Given the description of an element on the screen output the (x, y) to click on. 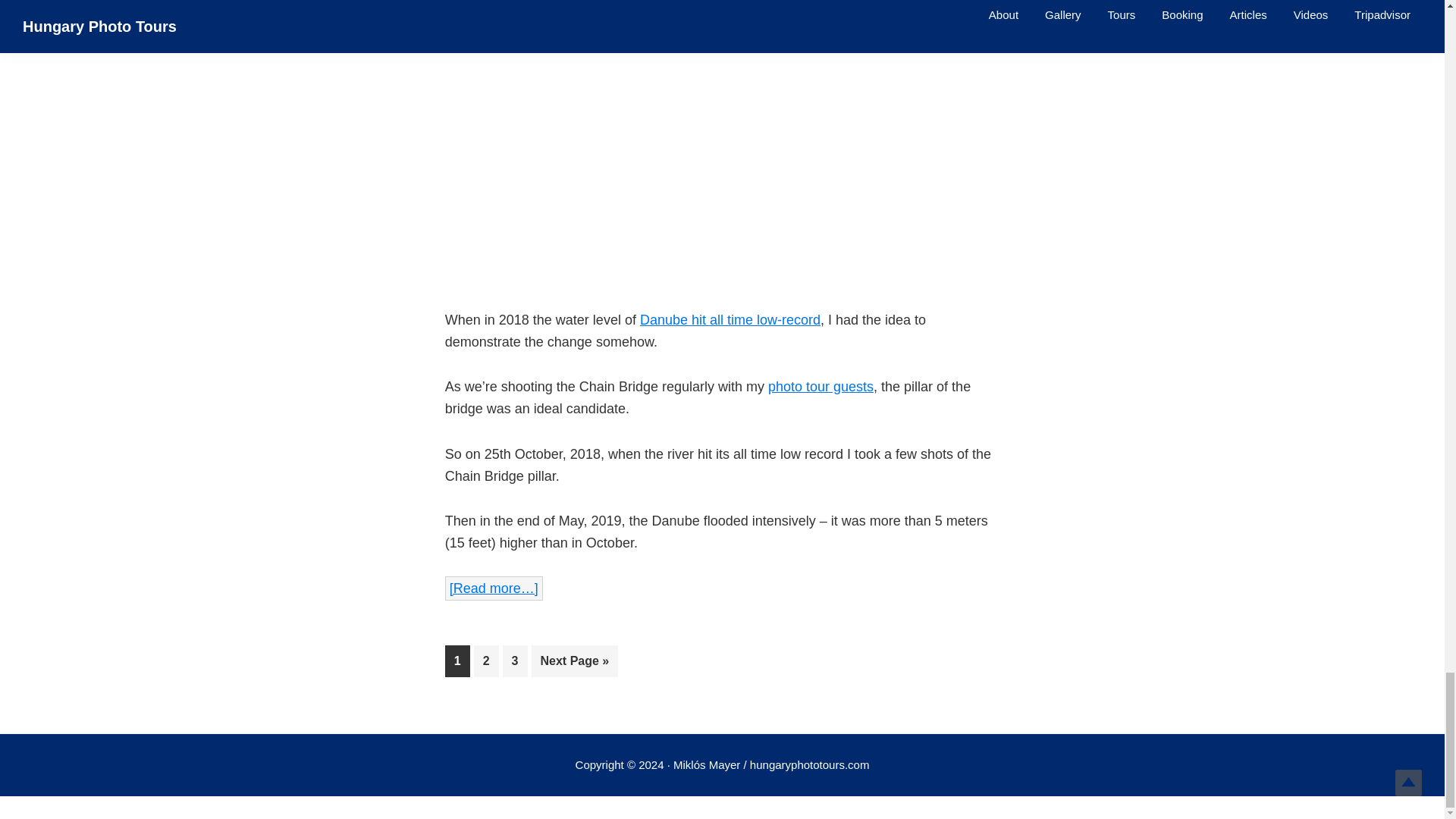
Danube hit all time low-record (730, 319)
photo tour guests (820, 386)
